Given the description of an element on the screen output the (x, y) to click on. 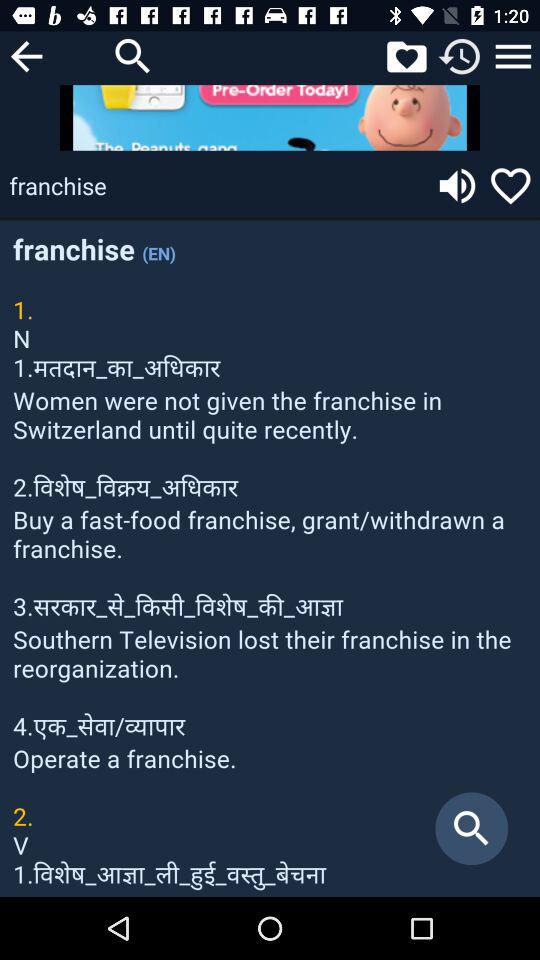
go to search (133, 56)
